Given the description of an element on the screen output the (x, y) to click on. 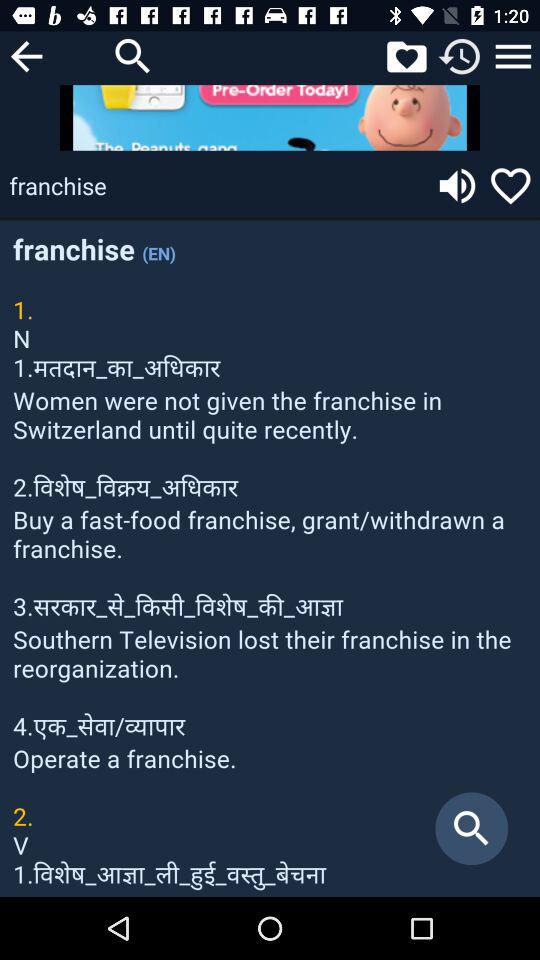
go to search (133, 56)
